Given the description of an element on the screen output the (x, y) to click on. 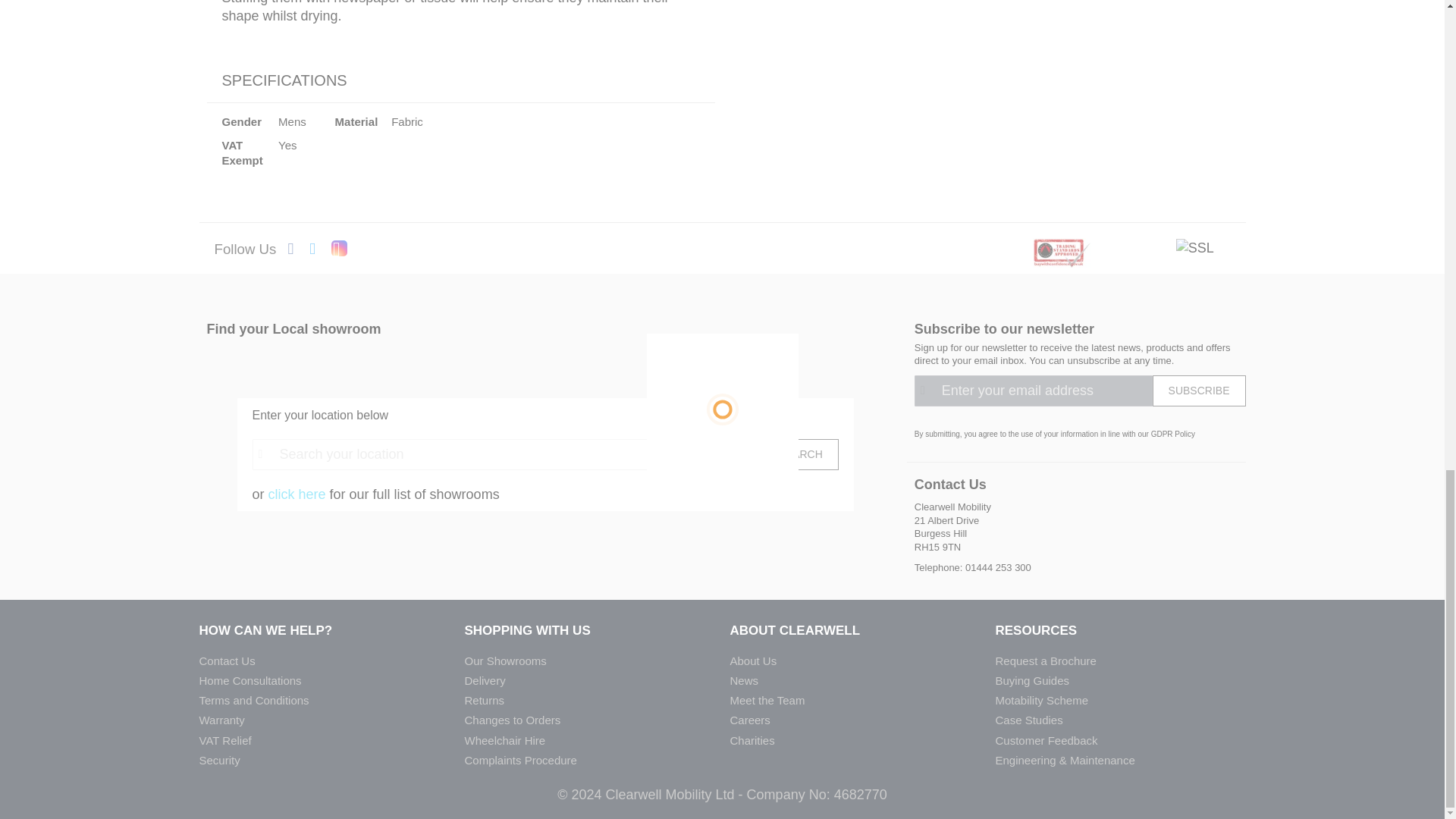
GlobalSign Site Seal (1195, 247)
Subscribe (1199, 390)
Search (799, 454)
